Given the description of an element on the screen output the (x, y) to click on. 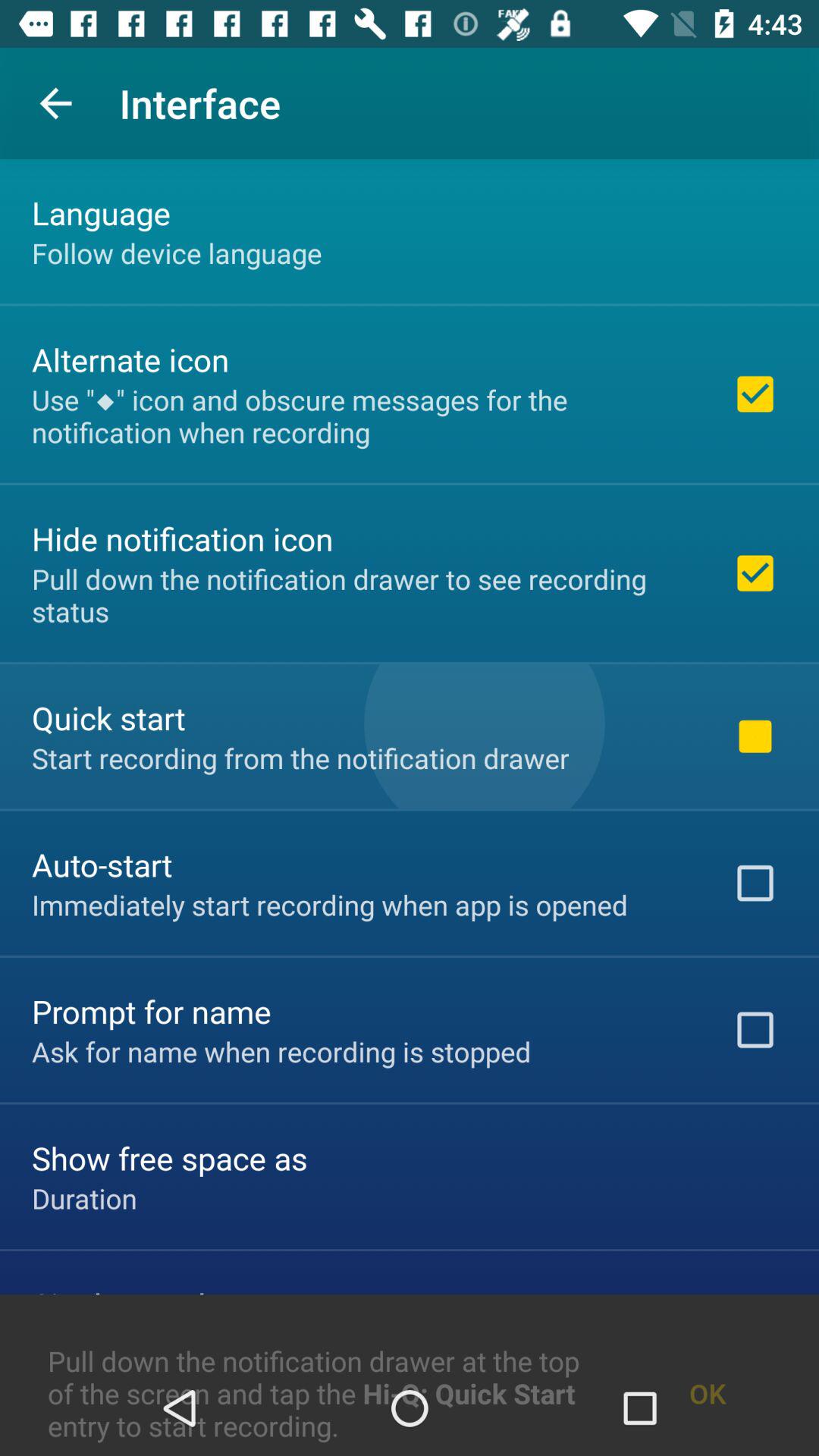
tap the icon to the left of the interface app (55, 103)
